Given the description of an element on the screen output the (x, y) to click on. 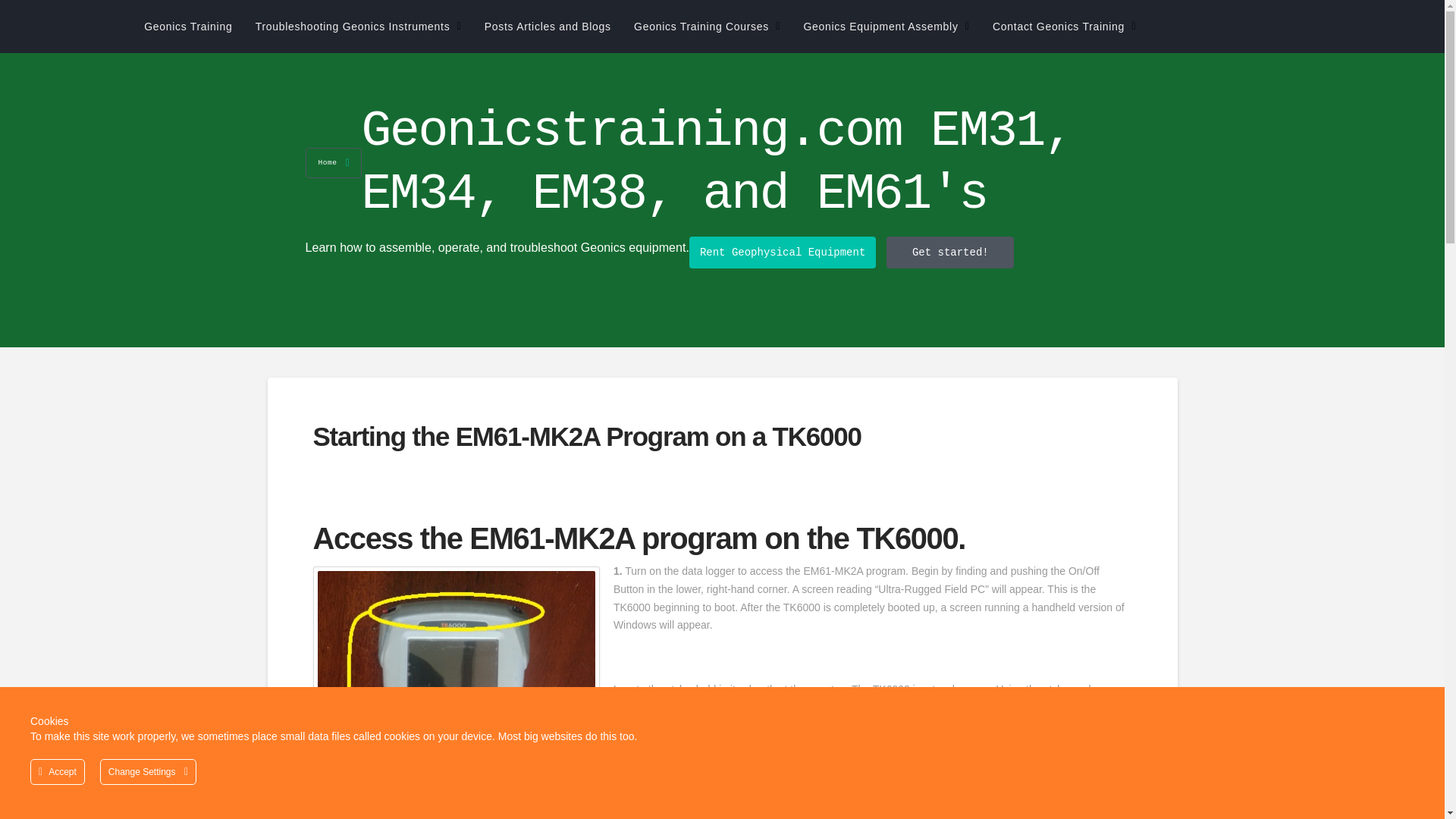
TK6000 with Stylus (455, 694)
Geonics Equipment Assembly (885, 26)
Posts Articles and Blogs (547, 26)
Rent Geophysical Equipment (782, 252)
Contact Geonics Training (1063, 26)
Geonics Training Courses (706, 26)
Troubleshooting Geonics Instruments (357, 26)
Home (332, 163)
Geonics Training (187, 26)
Get started! (949, 252)
